Given the description of an element on the screen output the (x, y) to click on. 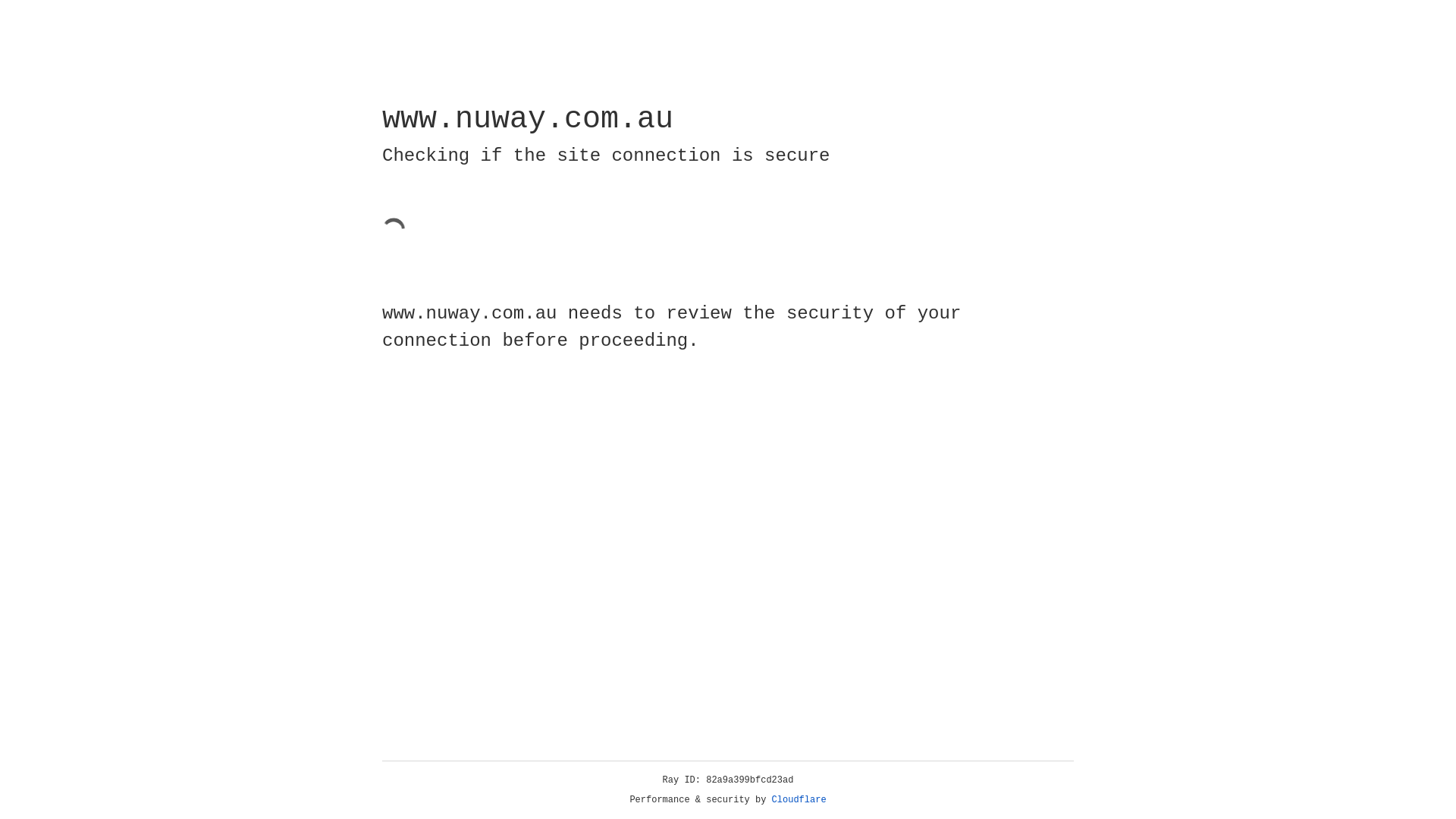
Cloudflare Element type: text (798, 799)
